Given the description of an element on the screen output the (x, y) to click on. 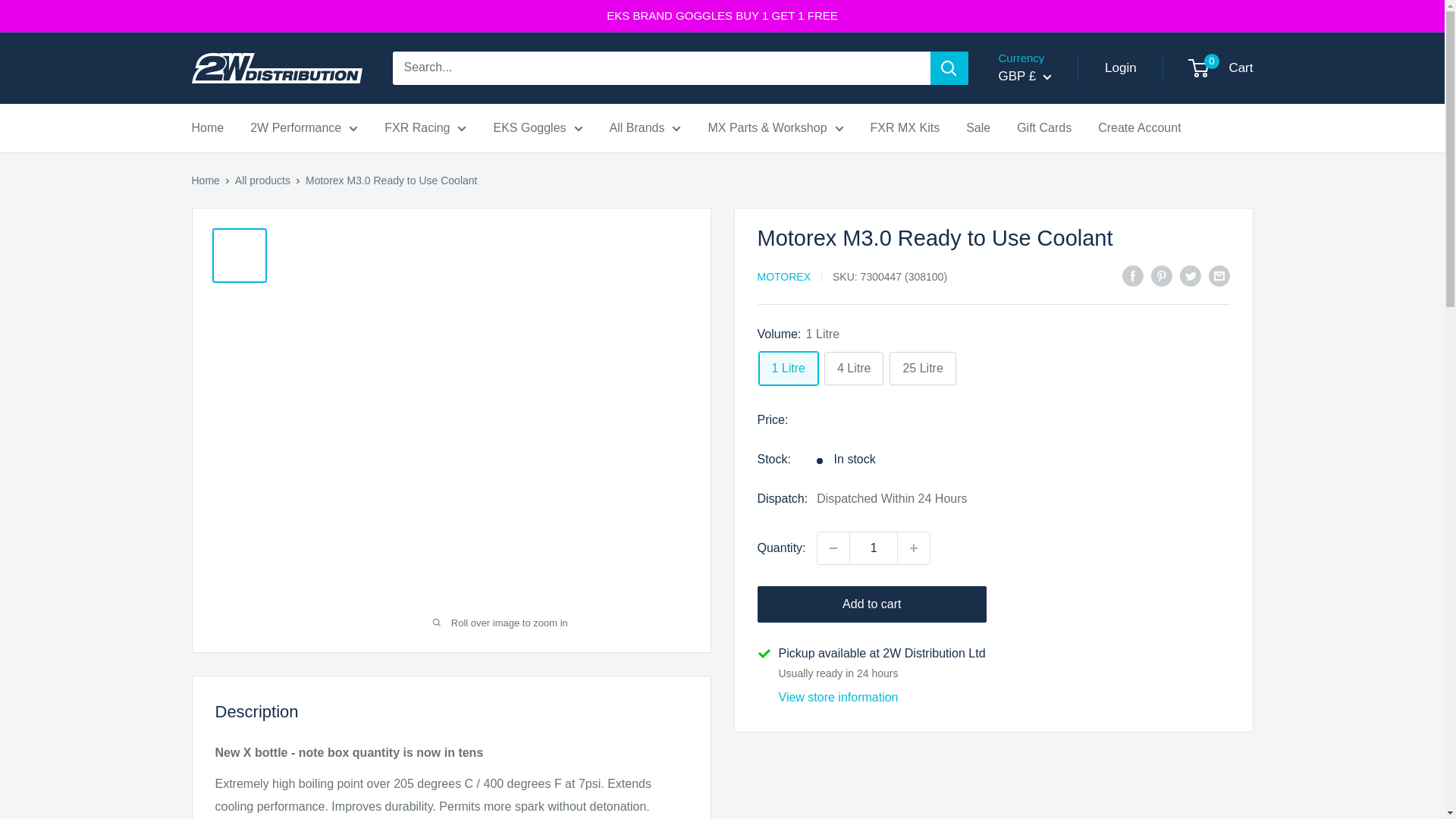
4 Litre (853, 368)
1 Litre (787, 368)
Increase quantity by 1 (914, 548)
25 Litre (922, 368)
EKS BRAND GOGGLES BUY 1 GET 1 FREE (722, 15)
Decrease quantity by 1 (832, 548)
1 (873, 548)
